Given the description of an element on the screen output the (x, y) to click on. 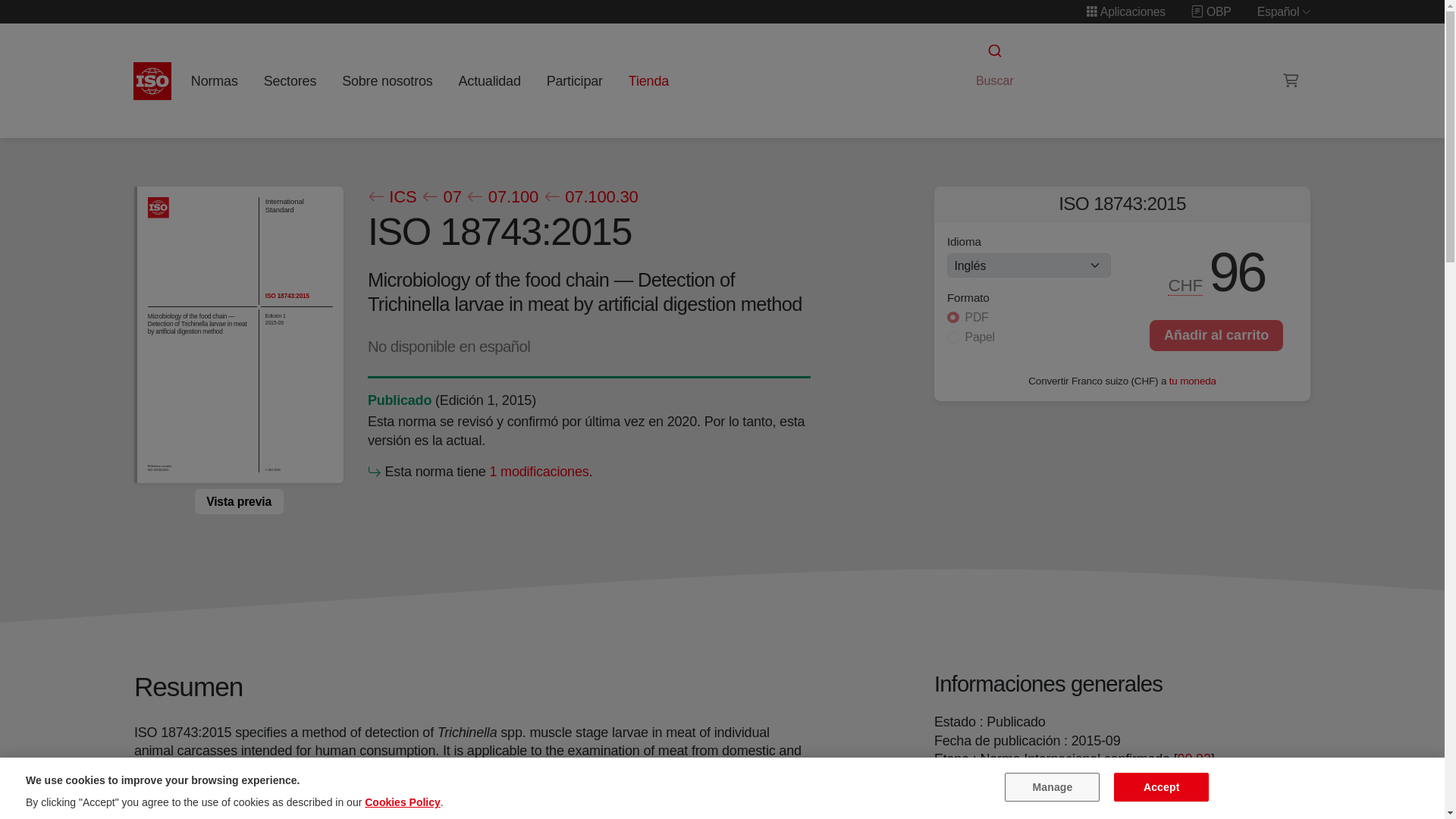
Tienda (648, 80)
Carro de la compra (1290, 80)
Actualidad (489, 80)
07.100 (501, 197)
Normas (214, 80)
 Aplicaciones (1126, 11)
07.100.30 (590, 197)
1 modificaciones (538, 471)
90.93 (1194, 758)
Vista previa (237, 501)
Submit (993, 51)
ICS (391, 197)
Participar (574, 80)
